Given the description of an element on the screen output the (x, y) to click on. 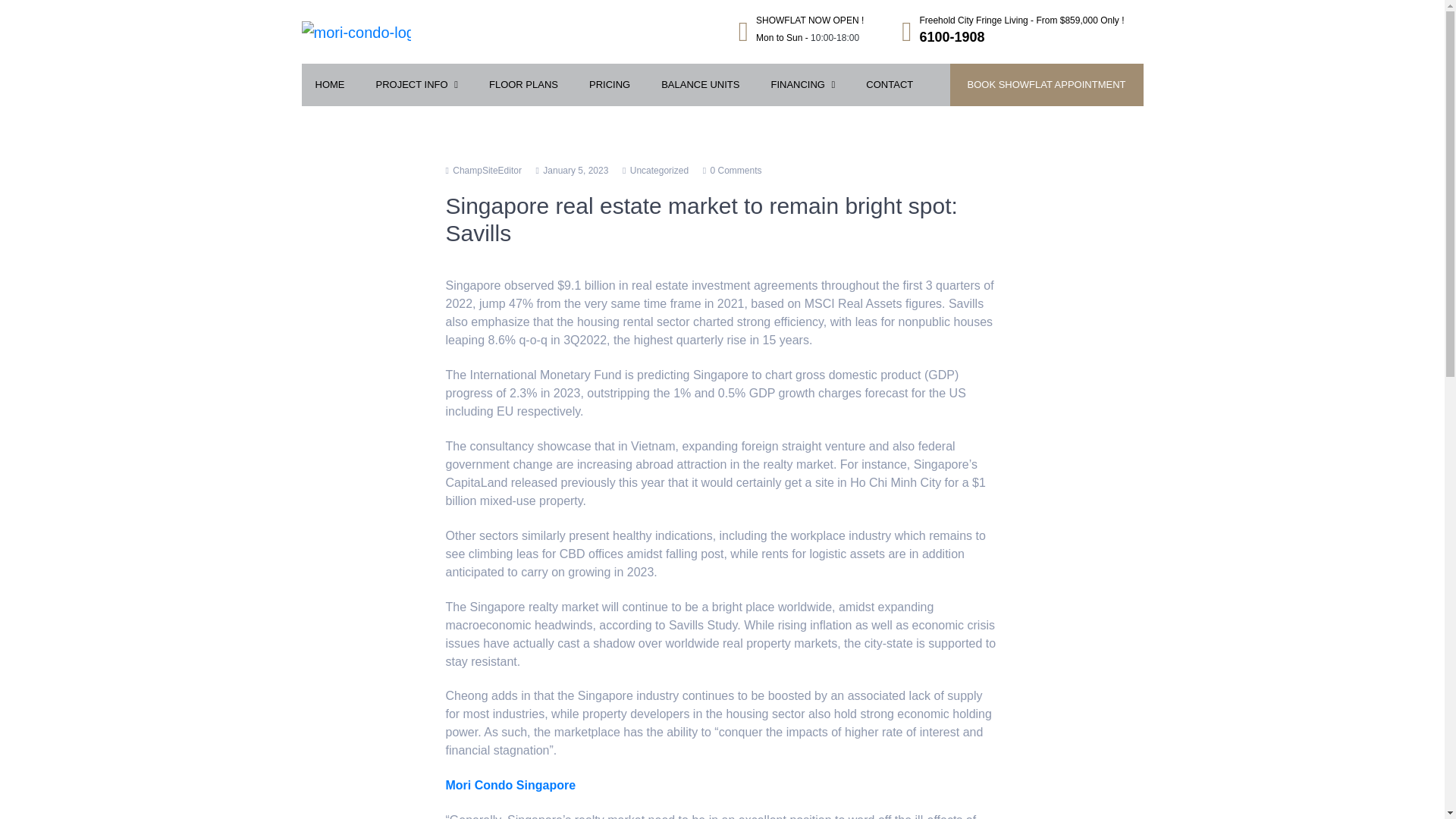
HOME (329, 84)
Floor Plans (524, 84)
CONTACT (888, 84)
FLOOR PLANS (524, 84)
0 Comments (735, 170)
PRICING (609, 84)
Financing (802, 84)
PROJECT INFO (416, 84)
BOOK SHOWFLAT APPOINTMENT (1045, 84)
Balance Units (699, 84)
FINANCING (802, 84)
Uncategorized (800, 31)
Mori Condo Singapore (659, 170)
Project Info (510, 784)
